Given the description of an element on the screen output the (x, y) to click on. 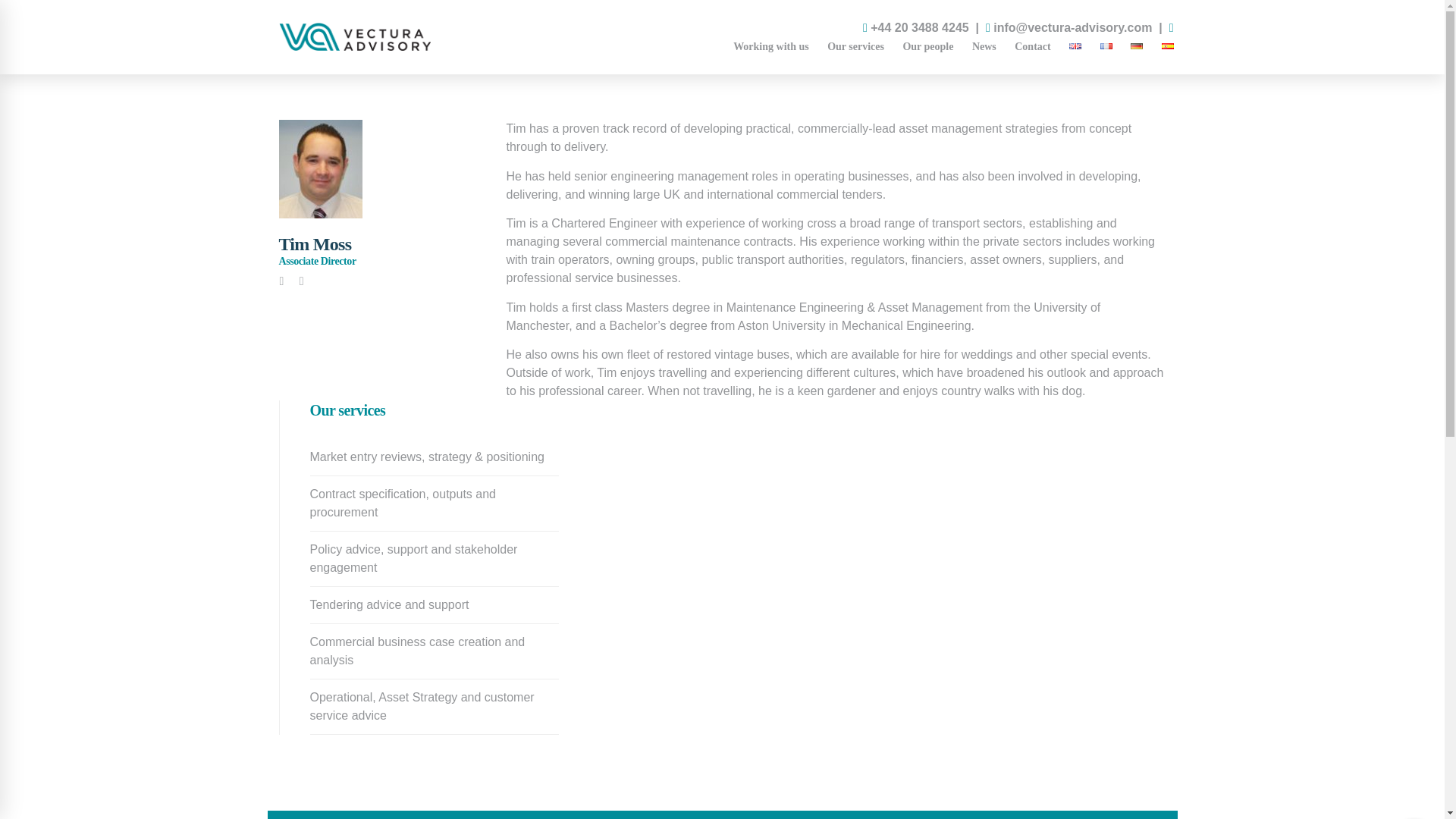
News (983, 47)
Tendering advice and support (433, 605)
Policy advice, support and stakeholder engagement (433, 558)
Contract specification, outputs and procurement (433, 502)
Working with us (770, 47)
Our services (855, 47)
Commercial business case creation and analysis (433, 651)
Operational, Asset Strategy and customer service advice (433, 706)
Contact (1032, 47)
Our people (927, 47)
